Given the description of an element on the screen output the (x, y) to click on. 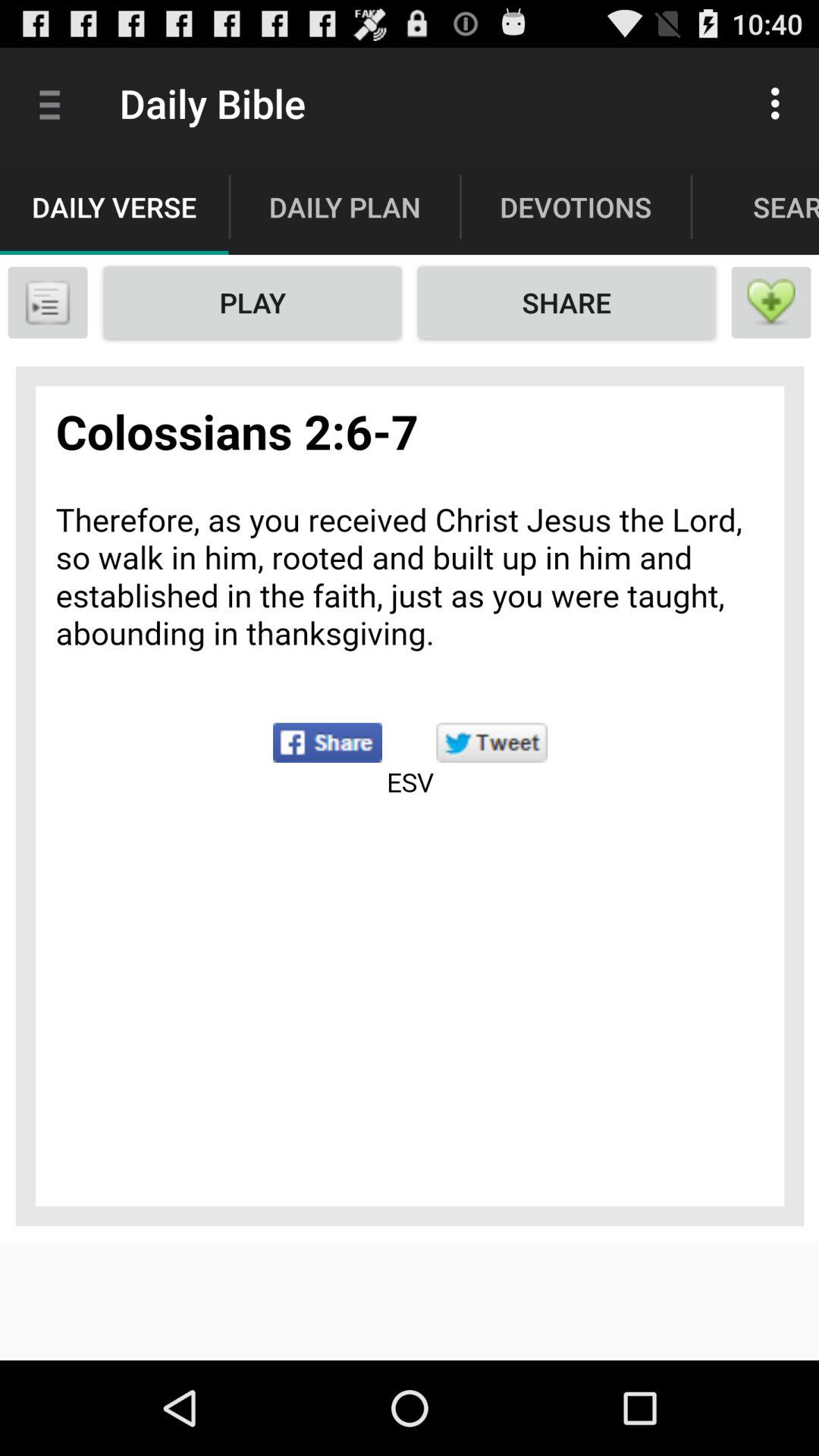
click on the button which is next to the play (566, 302)
click on the button which is next to the daily plan (576, 206)
click on the button which is at the top right corner of the page (779, 103)
